Given the description of an element on the screen output the (x, y) to click on. 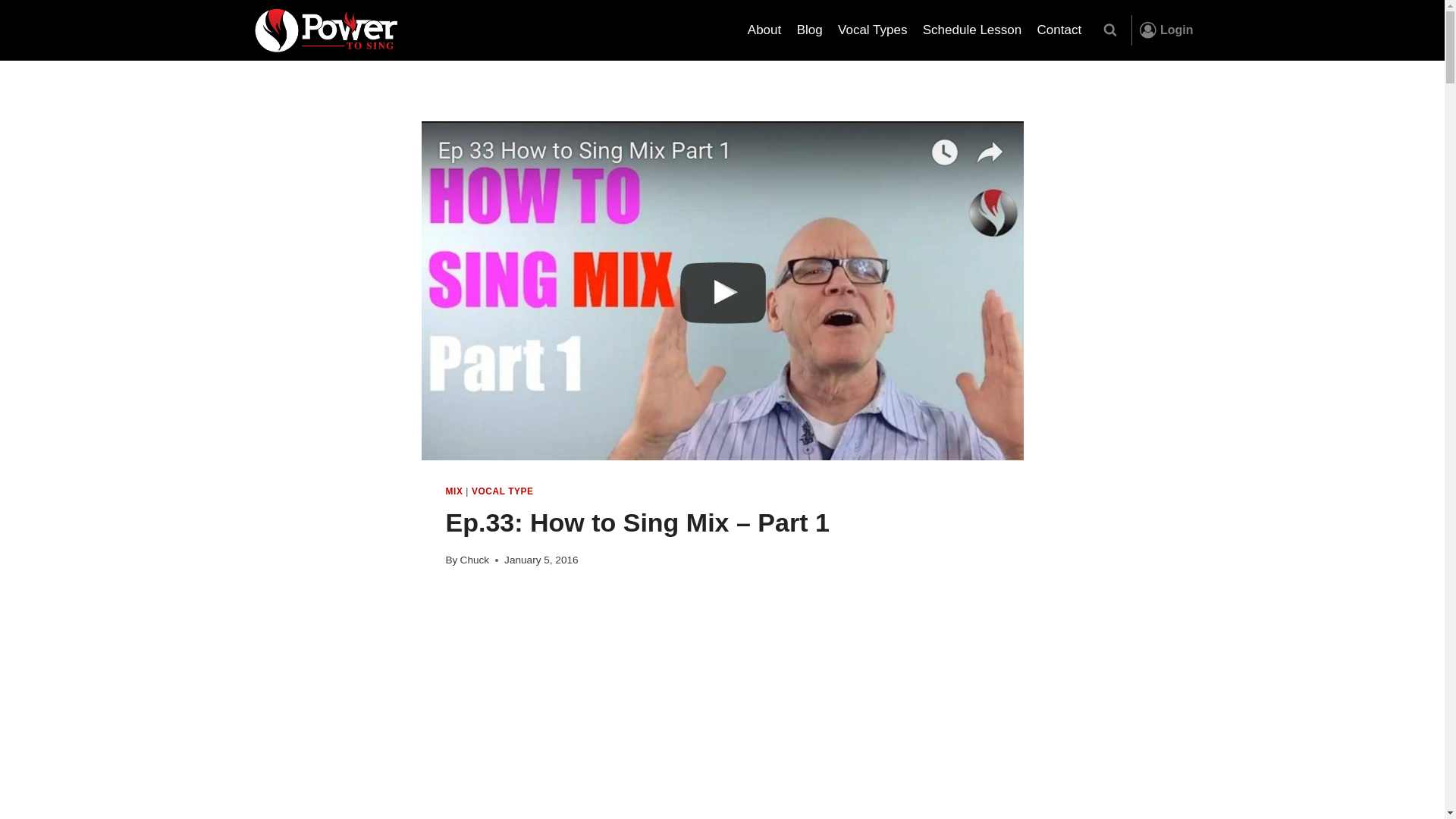
MIX (454, 491)
Contact (1059, 30)
Ep 33  How to Sing Mix   Part 1 (721, 705)
About (764, 30)
Blog (809, 30)
Chuck (474, 559)
Schedule Lesson (972, 30)
VOCAL TYPE (502, 491)
Login (1166, 29)
Vocal Types (872, 30)
